Given the description of an element on the screen output the (x, y) to click on. 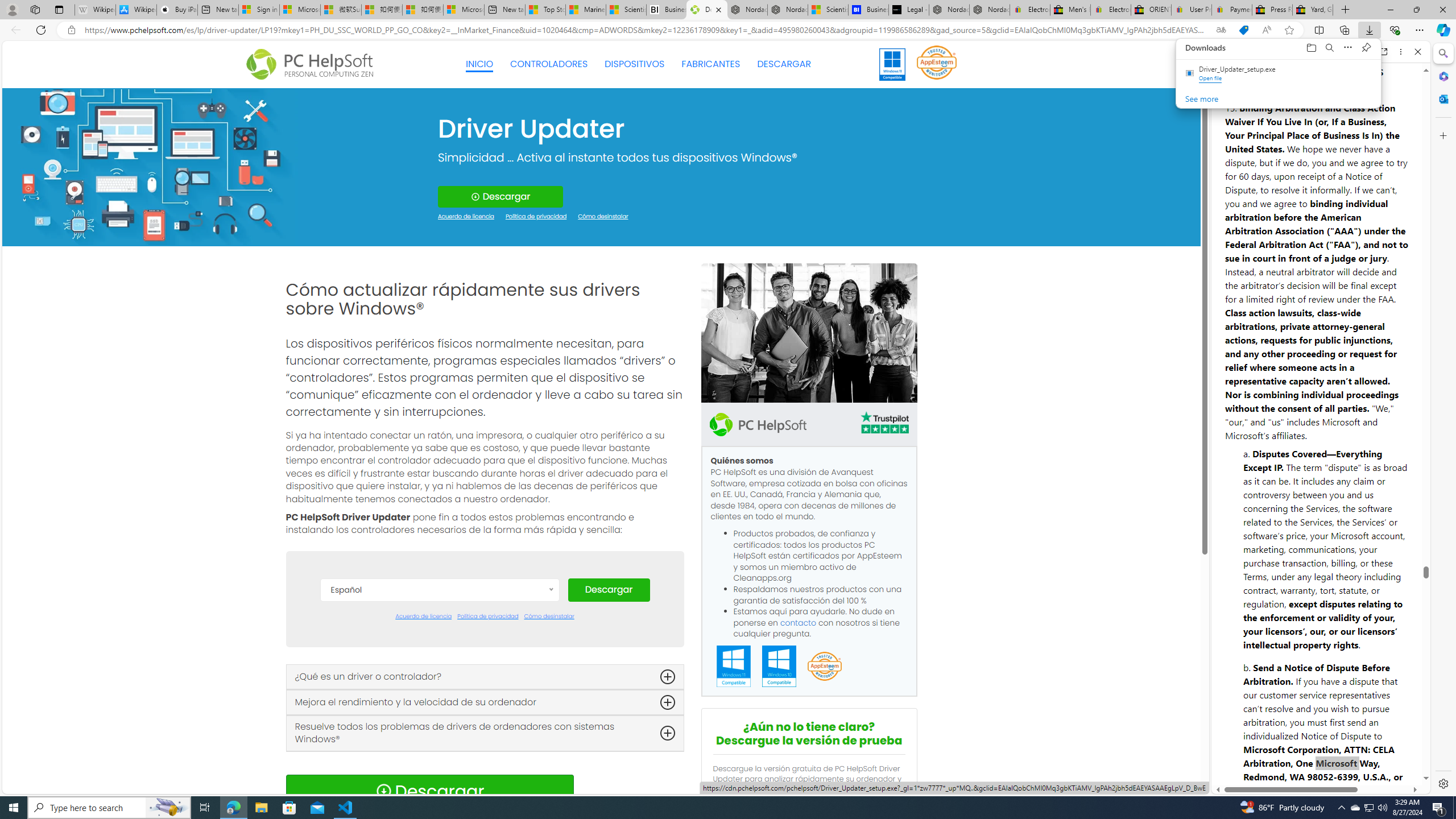
App Esteem (823, 666)
Windows 11 Compatible (733, 666)
Pin downloads (1366, 47)
Descargar (608, 589)
Acuerdo de licencia (423, 615)
Show translate options (1220, 29)
